Given the description of an element on the screen output the (x, y) to click on. 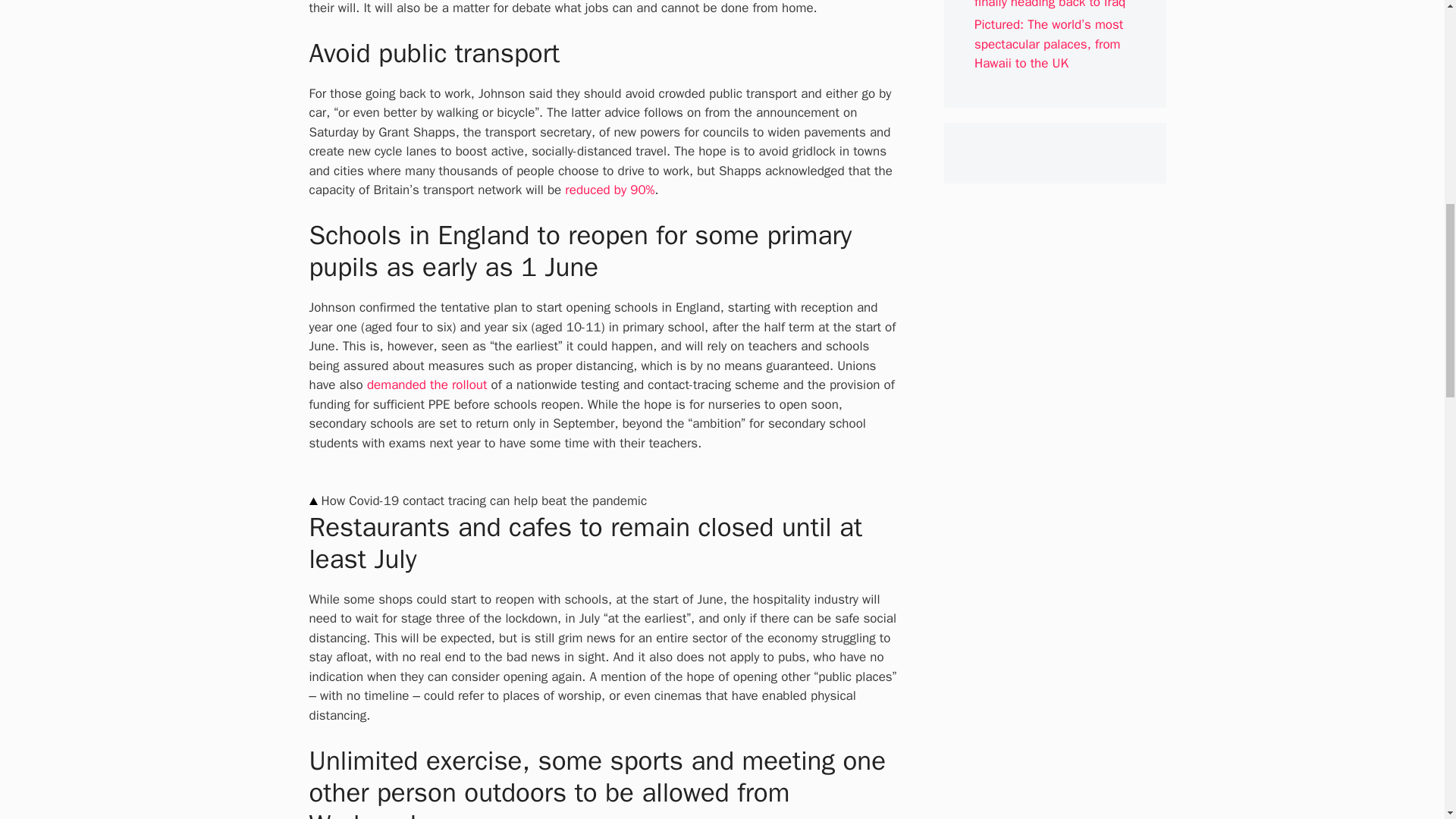
demanded the rollout (426, 384)
